Given the description of an element on the screen output the (x, y) to click on. 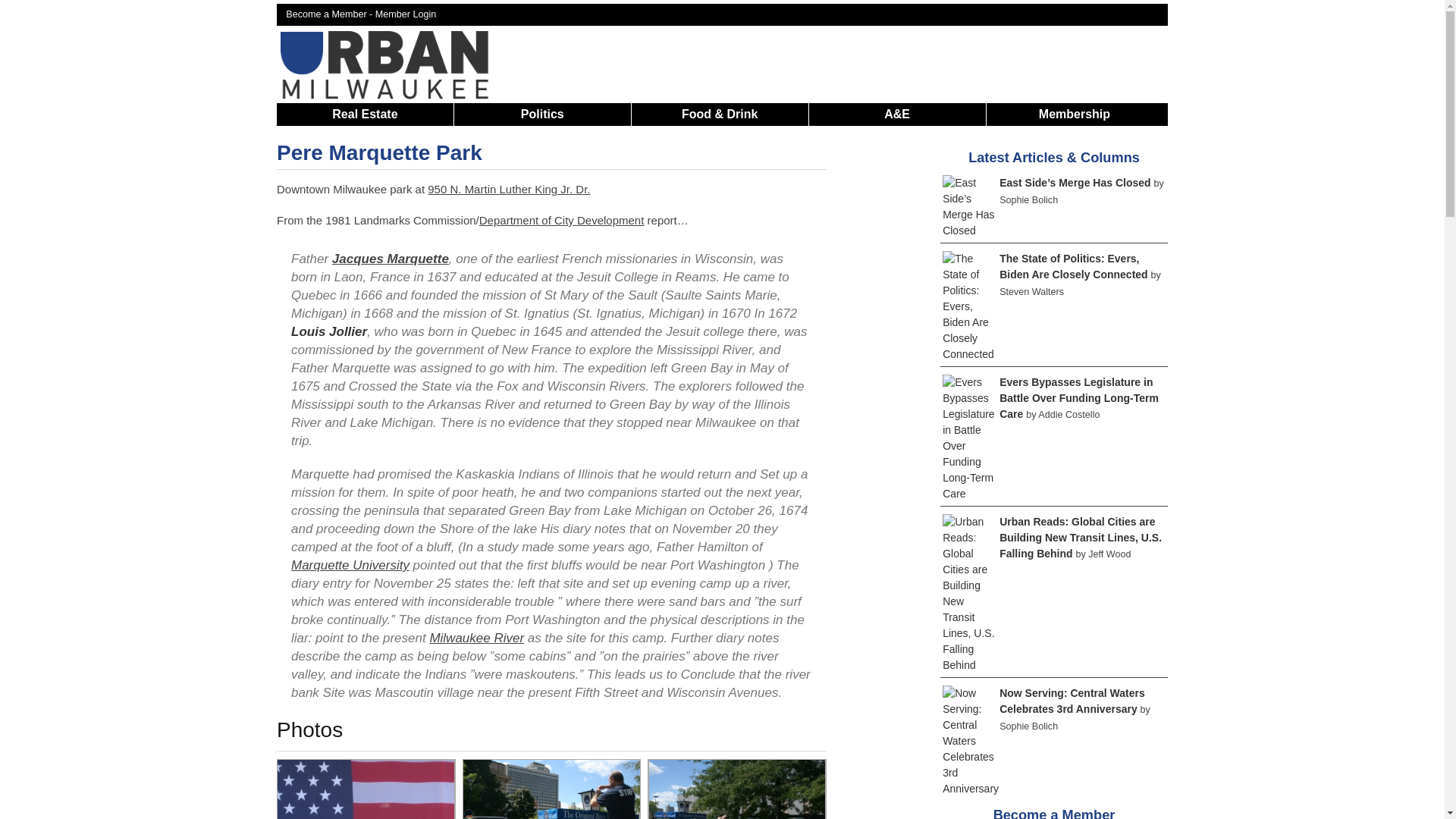
Department of City Development (562, 219)
950 N. Martin Luther King Jr. Dr. (508, 188)
Milwaukee River (476, 637)
The start of the first Pere Marquette Beer Garden. (551, 789)
Become a Member - (330, 14)
Membership (1074, 113)
Pere Marquette Park (378, 152)
Real Estate (364, 113)
Marquette University (350, 564)
